Given the description of an element on the screen output the (x, y) to click on. 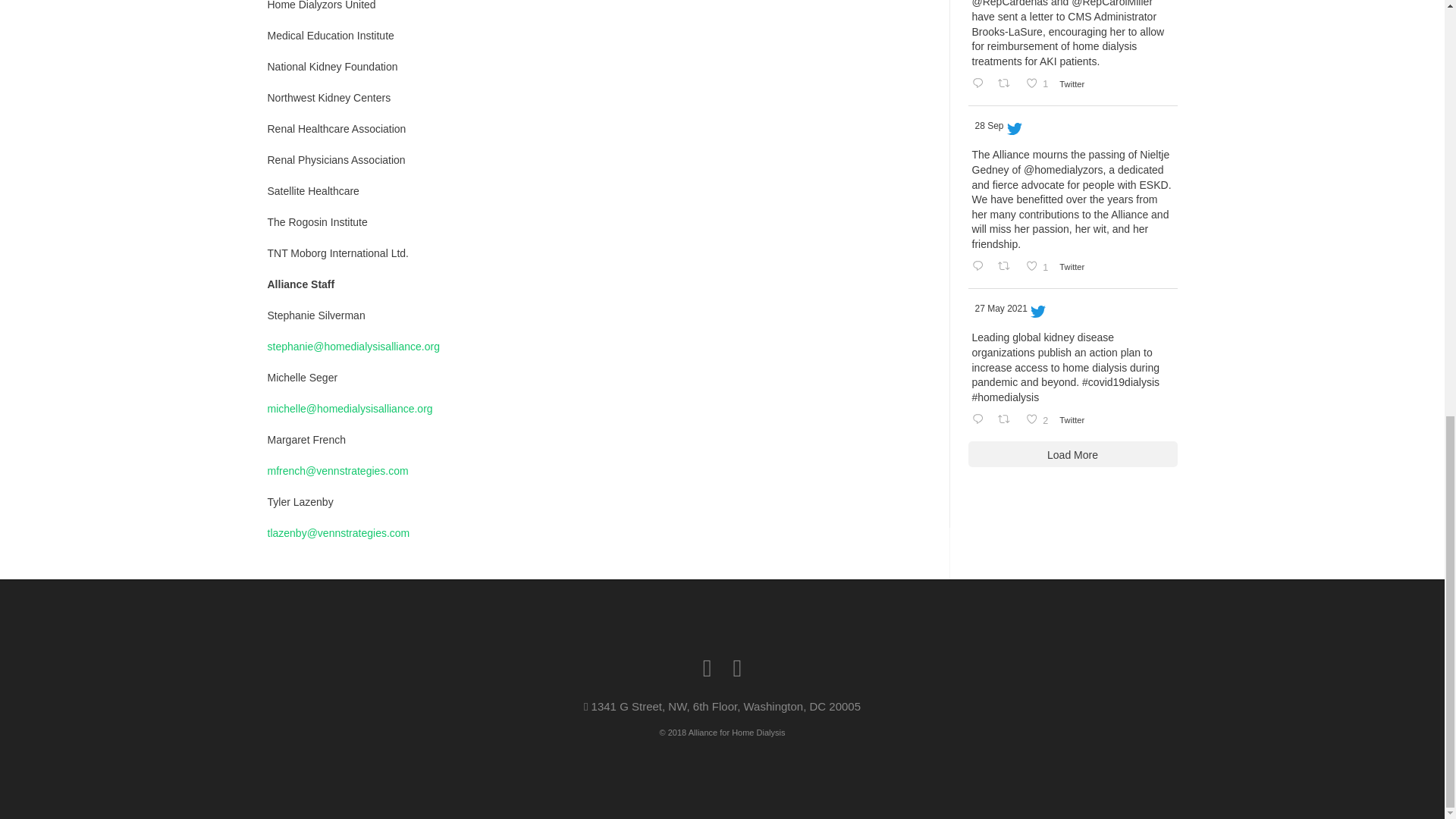
Follow Us on Twitter (736, 668)
Retweet on Twitter 1714994555034964052 (1008, 84)
Send Us an Email (707, 668)
Reply on Twitter 1714994555034964052 (1038, 84)
